Given the description of an element on the screen output the (x, y) to click on. 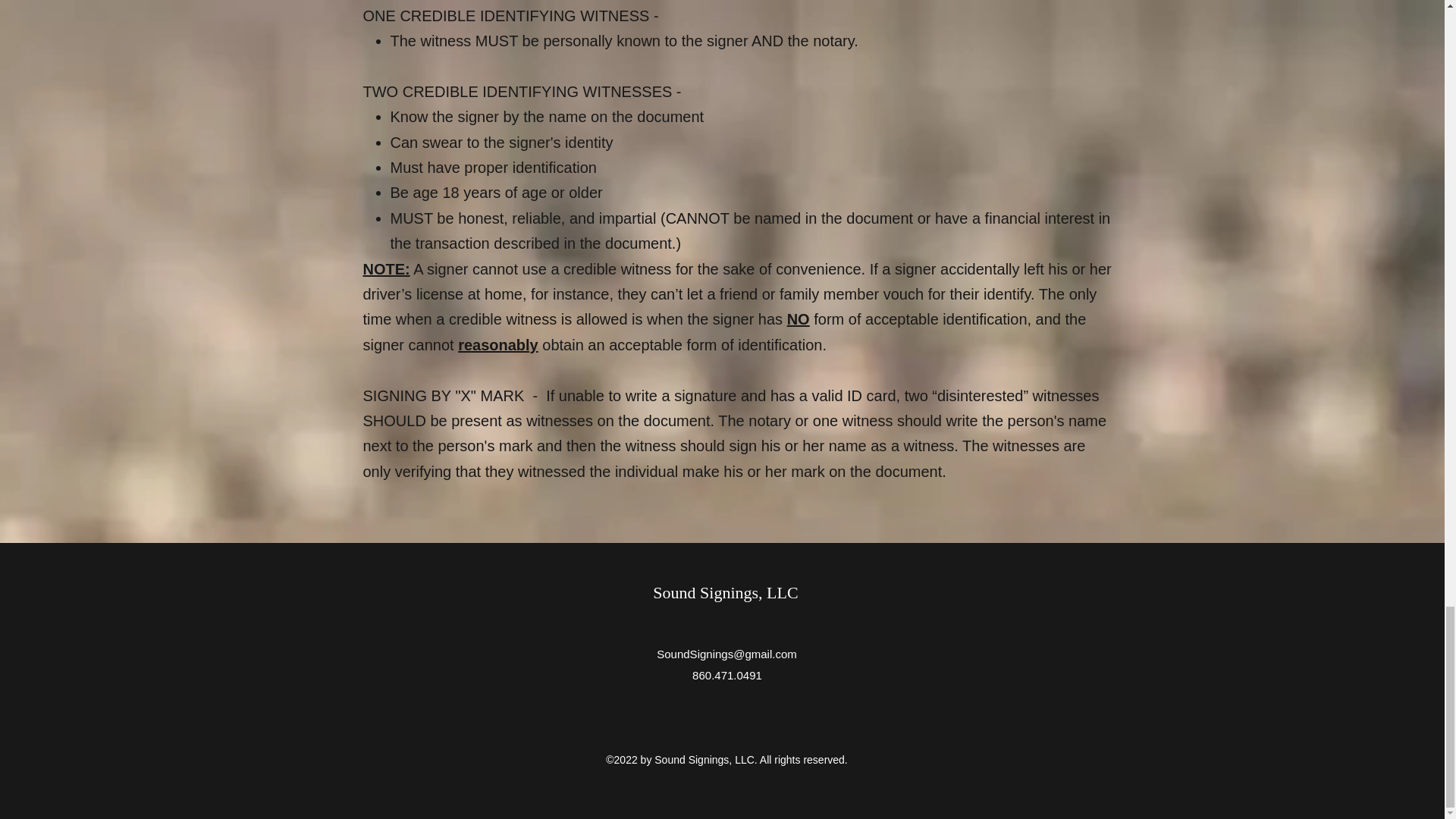
Sound Signings, LLC (724, 592)
